Given the description of an element on the screen output the (x, y) to click on. 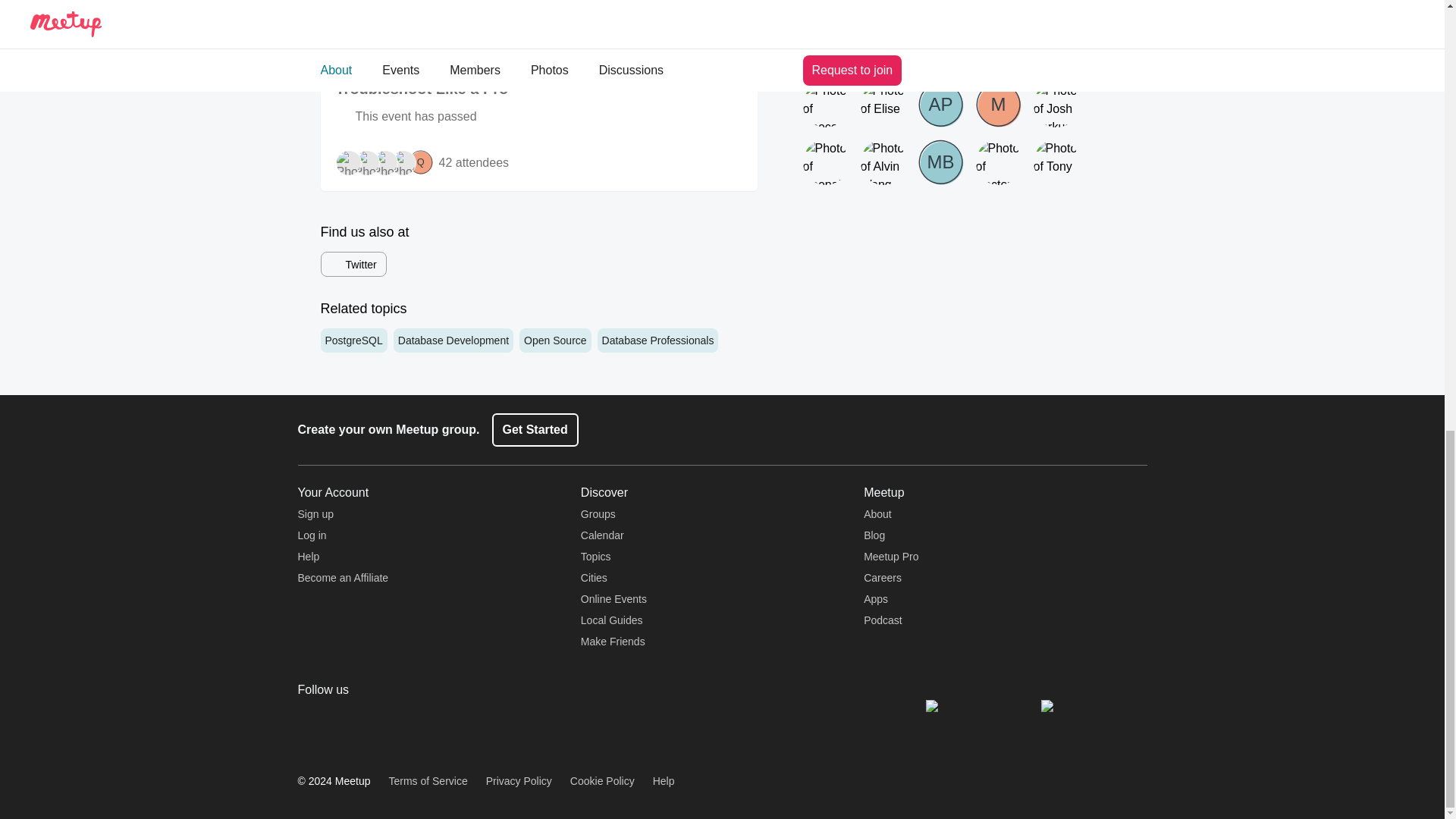
Database Development (453, 340)
Q (419, 161)
See all (738, 2)
PostgreSQL (353, 340)
Twitter (352, 263)
